Given the description of an element on the screen output the (x, y) to click on. 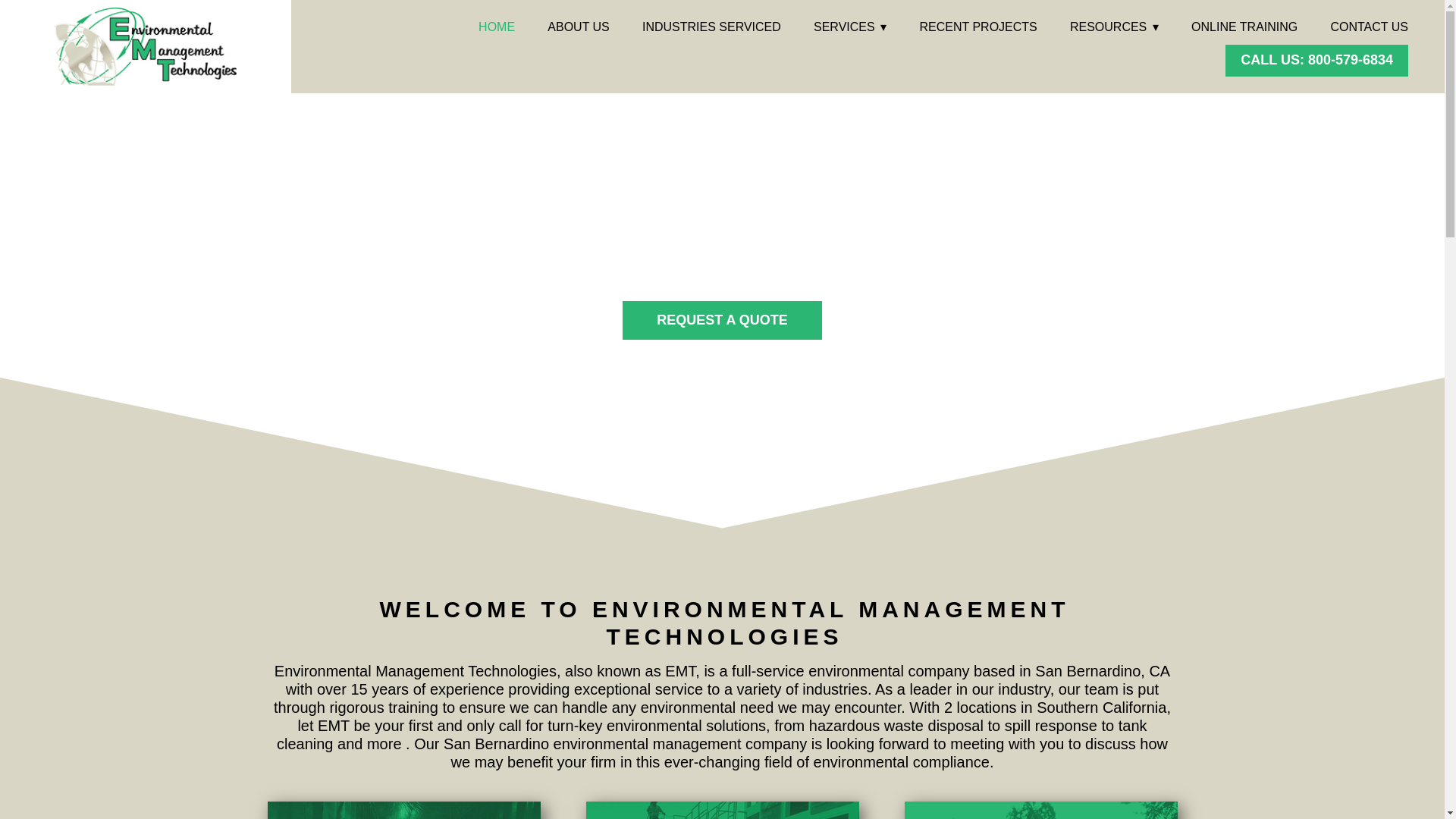
HOME (497, 26)
REQUEST A QUOTE (722, 320)
CONTACT US (1368, 26)
Environmental Management Technologies (145, 46)
ONLINE TRAINING (1244, 26)
ABOUT US (578, 26)
INDUSTRIES SERVICED (711, 26)
RECENT PROJECTS (977, 26)
CALL US: 800-579-6834 (1316, 60)
